Given the description of an element on the screen output the (x, y) to click on. 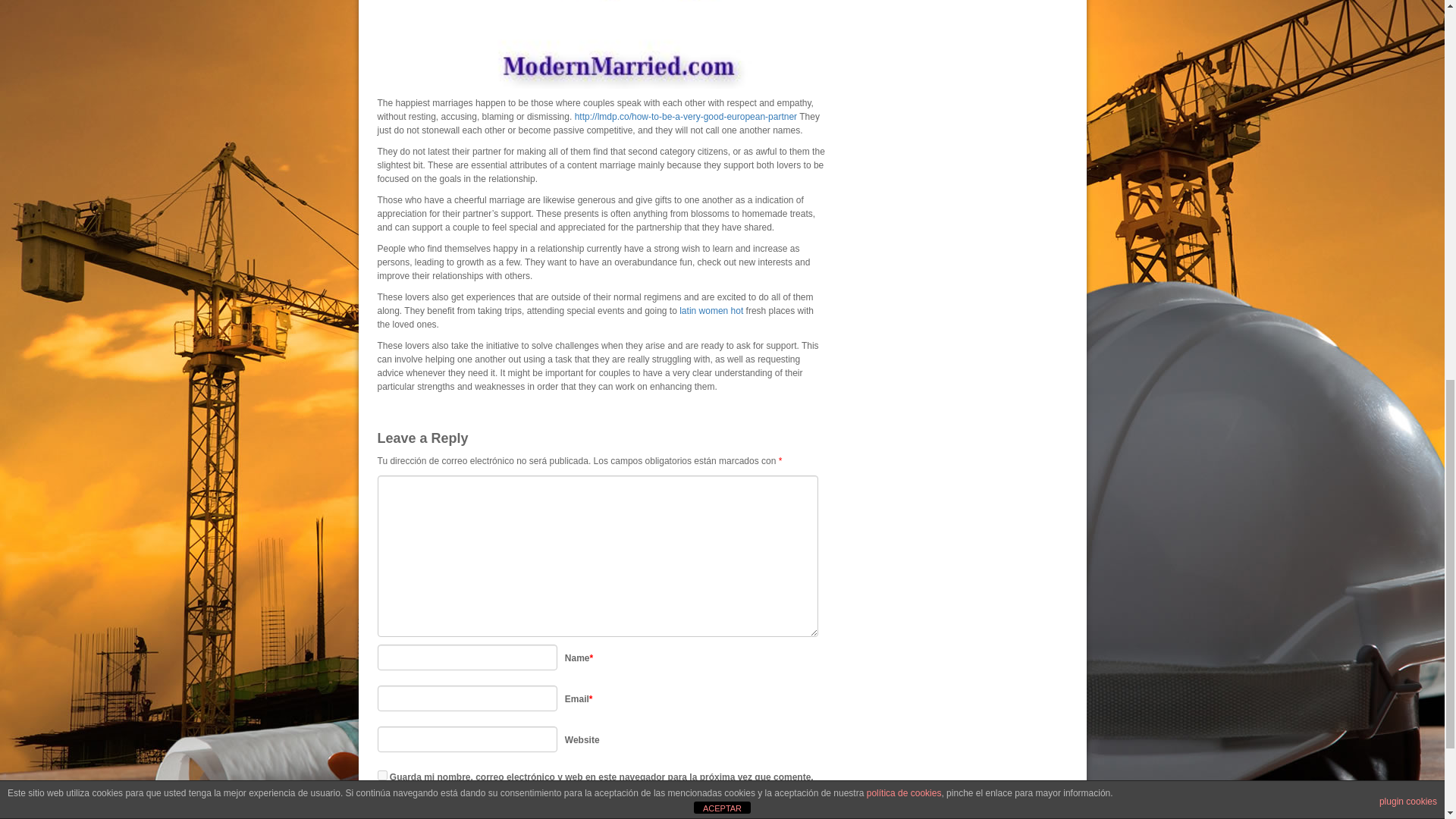
latin women hot (710, 310)
yes (382, 775)
Post Comment (422, 807)
Post Comment (422, 807)
